Given the description of an element on the screen output the (x, y) to click on. 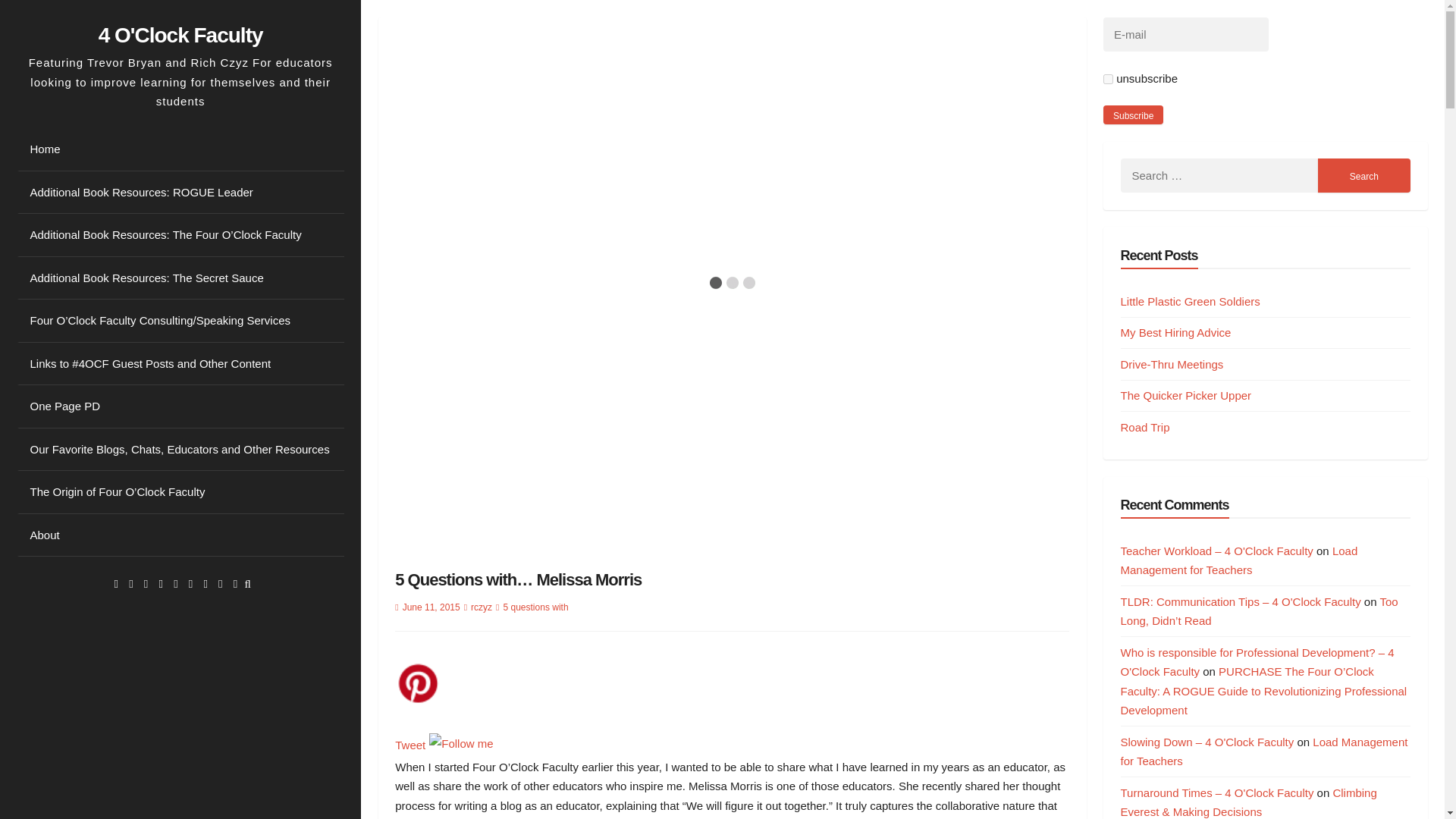
Twitter (130, 583)
Linkedin (159, 583)
Email (234, 583)
Google Plus (146, 583)
Twitter (130, 583)
Tweet (409, 744)
Subscribe (1133, 114)
Google Plus (146, 583)
rczyz (481, 606)
Email (234, 583)
Search (1363, 175)
Search (1363, 175)
Follow me (461, 743)
YouTube (190, 583)
5 questions with (536, 606)
